Given the description of an element on the screen output the (x, y) to click on. 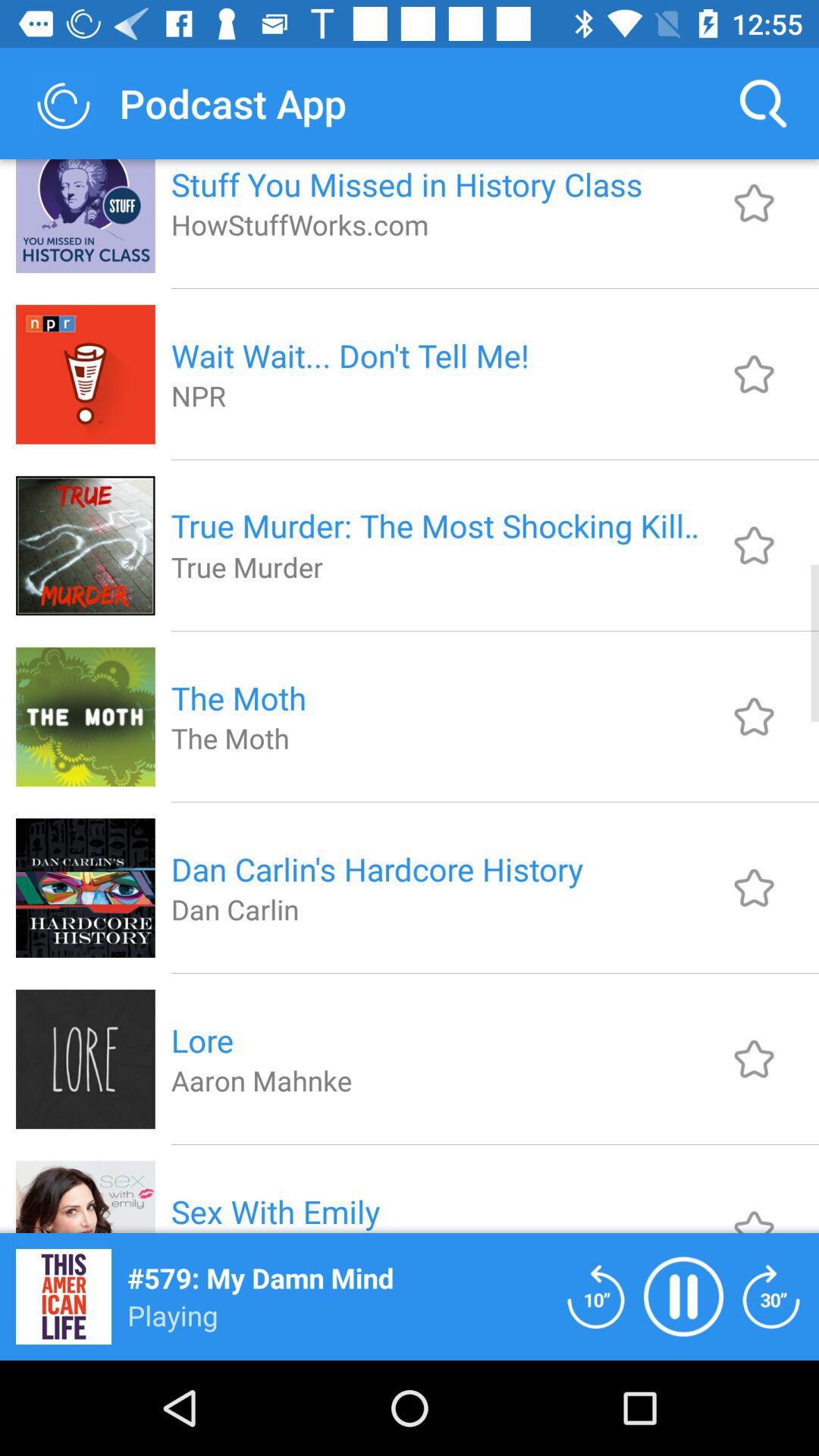
star (754, 203)
